Given the description of an element on the screen output the (x, y) to click on. 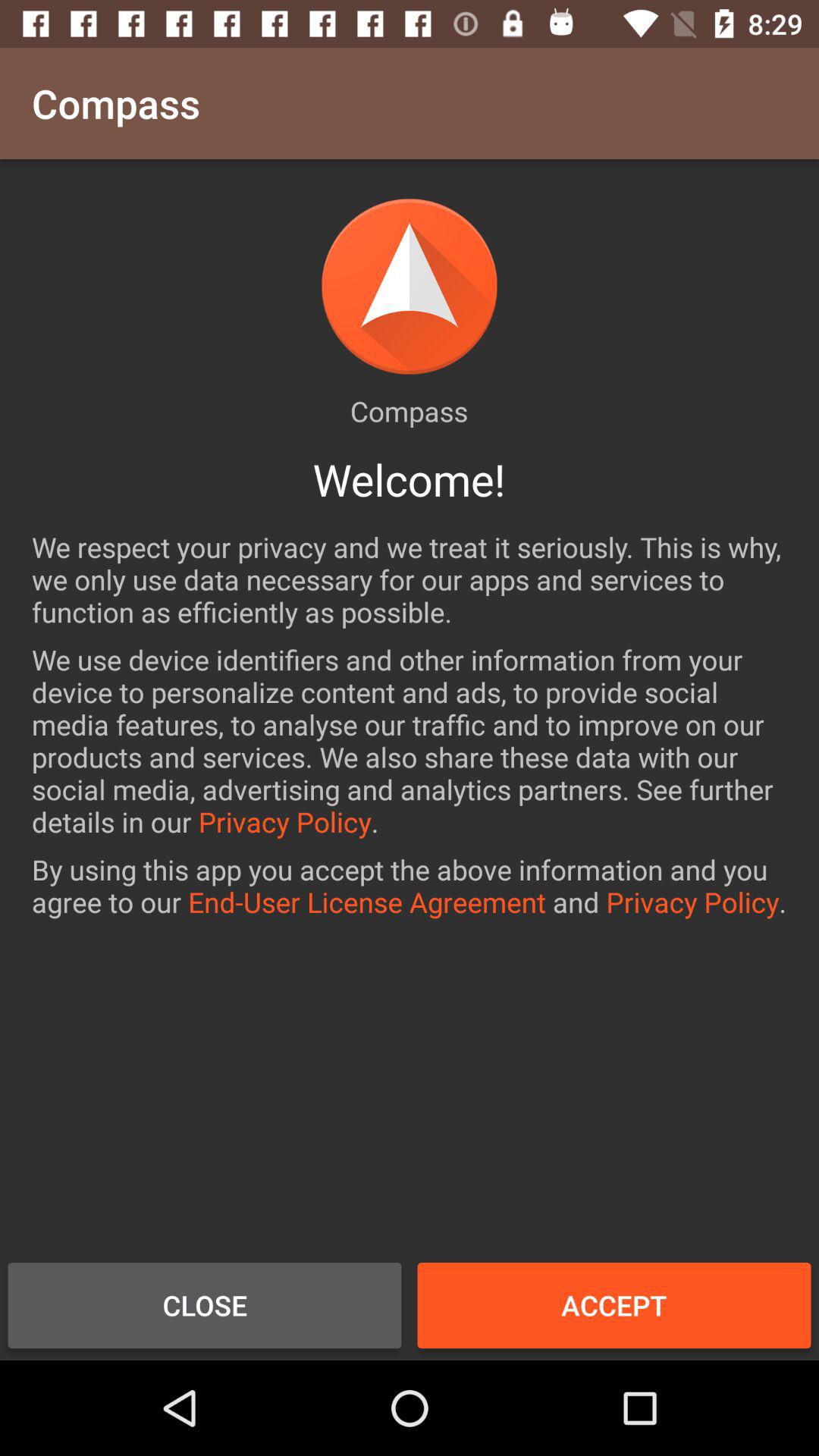
select the item next to the accept icon (204, 1305)
